Given the description of an element on the screen output the (x, y) to click on. 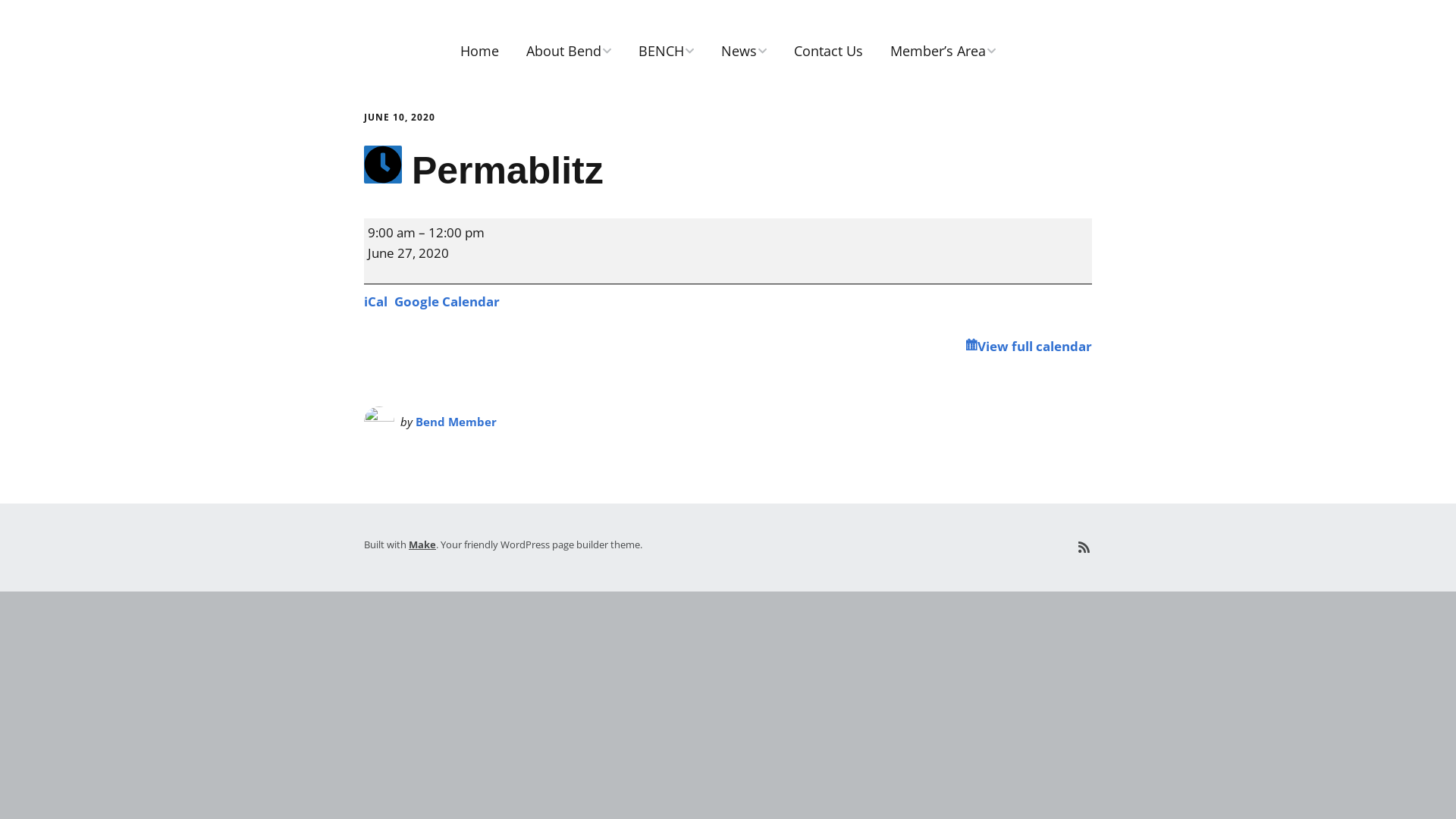
View full calendar Element type: text (1028, 345)
BENCH Element type: text (666, 51)
About Bend Element type: text (568, 51)
iCal Element type: text (375, 301)
News Element type: text (743, 51)
Contact Us Element type: text (828, 51)
Bend Member Element type: text (455, 421)
Home Element type: text (479, 51)
Make Element type: text (422, 544)
Google Calendar Element type: text (446, 301)
